Given the description of an element on the screen output the (x, y) to click on. 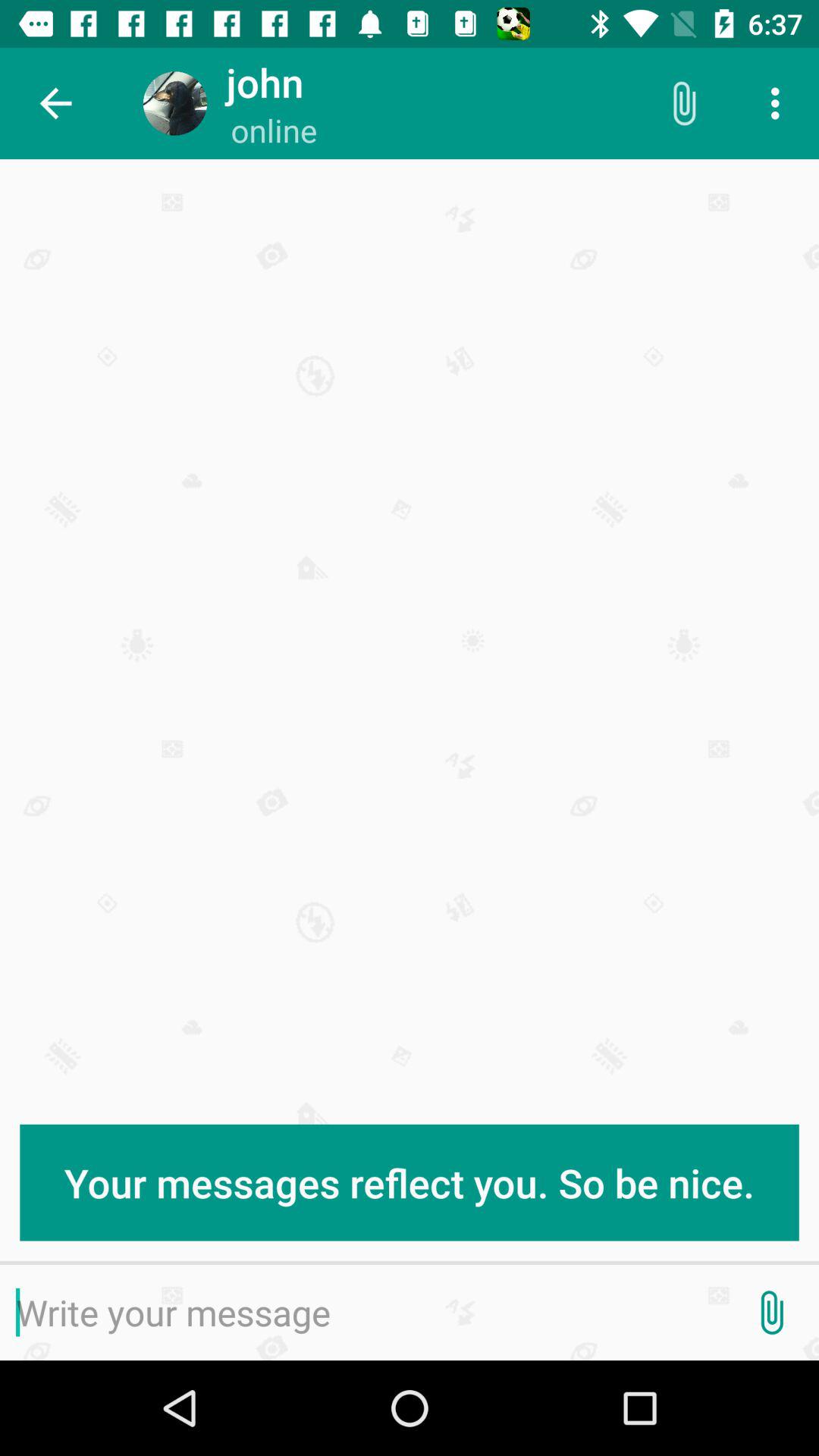
launch the item at the bottom right corner (771, 1312)
